Given the description of an element on the screen output the (x, y) to click on. 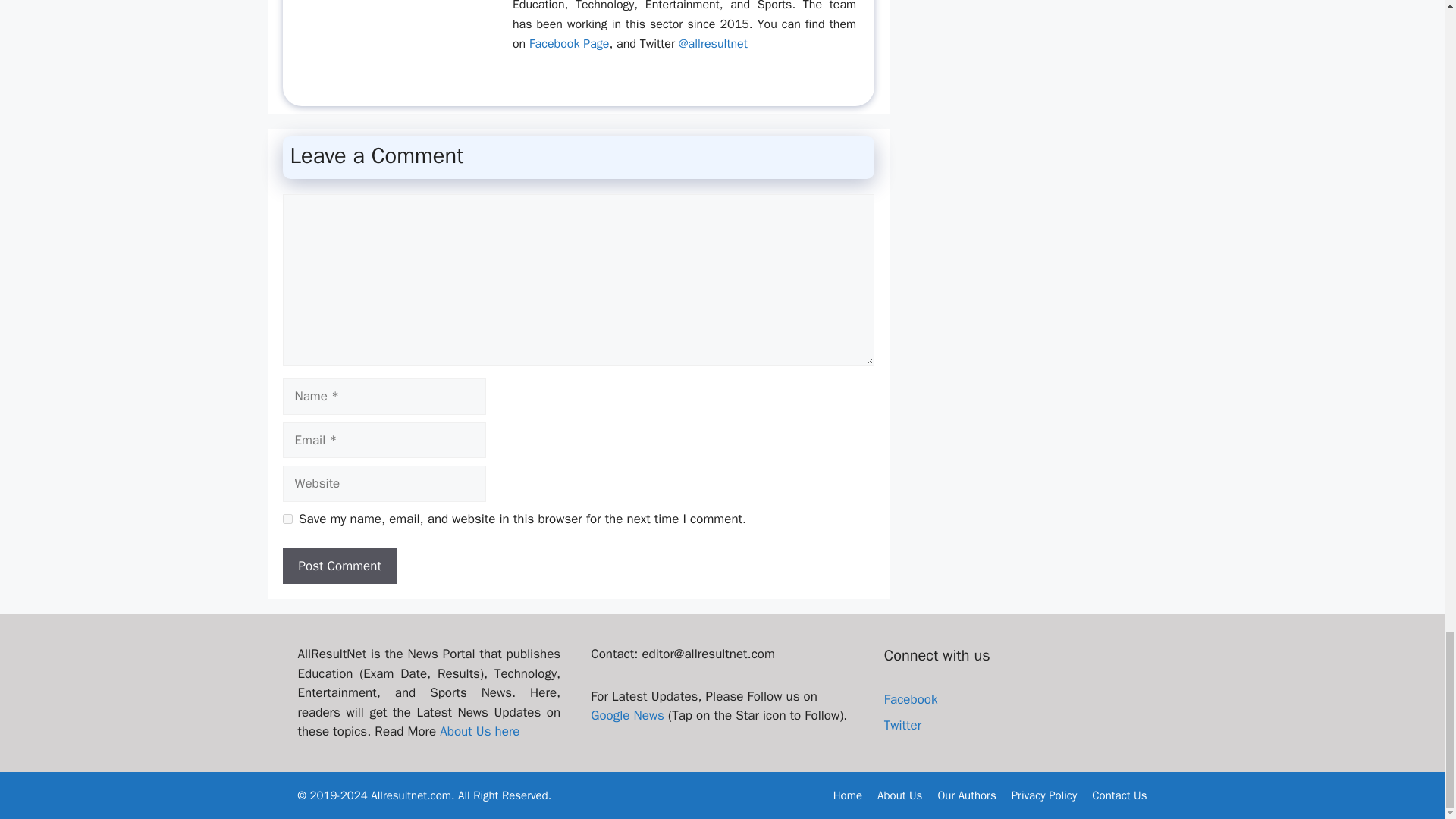
Post Comment (339, 565)
yes (287, 519)
Google News (627, 715)
Post Comment (339, 565)
Facebook (910, 699)
About Us here (479, 731)
Facebook Page (568, 43)
